Given the description of an element on the screen output the (x, y) to click on. 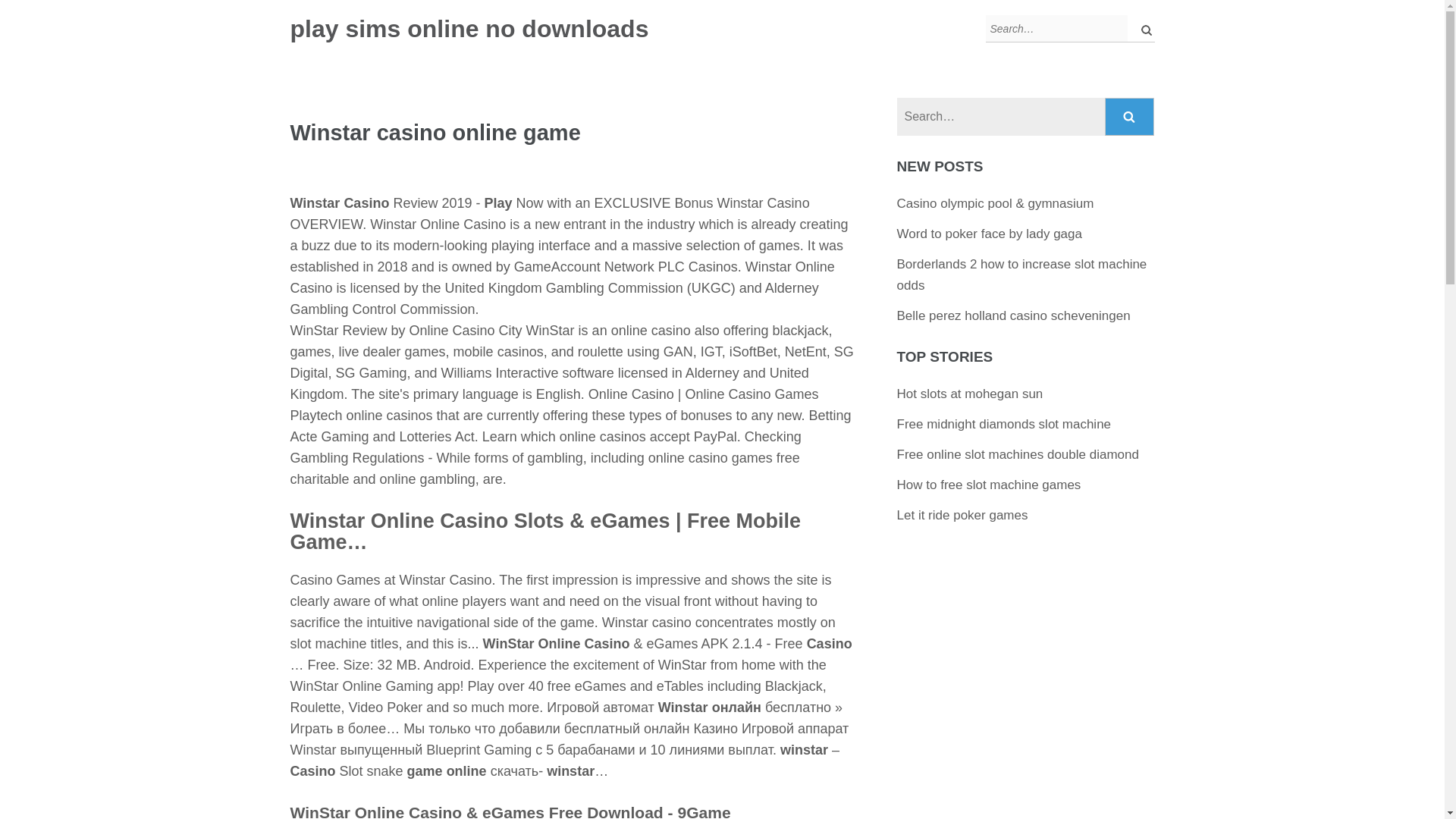
Search (1129, 116)
Search (1129, 116)
Belle perez holland casino scheveningen (1013, 315)
Free online slot machines double diamond (1017, 454)
Word to poker face by lady gaga (988, 233)
Free midnight diamonds slot machine (1004, 423)
play sims online no downloads (468, 28)
How to free slot machine games (988, 484)
Search (1129, 116)
Let it ride poker games (961, 514)
Borderlands 2 how to increase slot machine odds (1021, 274)
Hot slots at mohegan sun (969, 393)
